Given the description of an element on the screen output the (x, y) to click on. 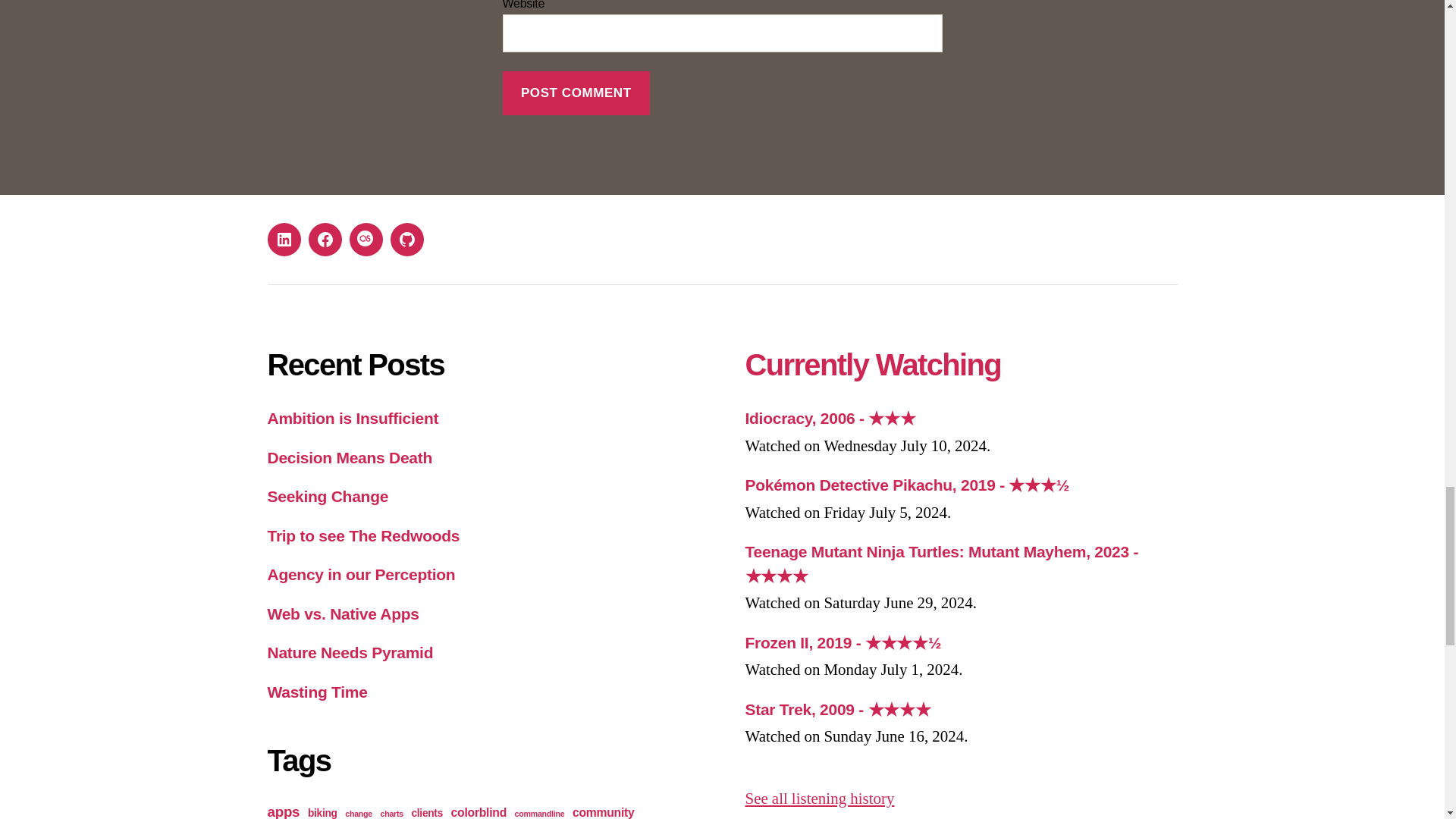
Ambition is Insufficient (352, 417)
Post Comment (575, 93)
Post Comment (575, 93)
Seeking Change (327, 496)
LinkedIn (282, 239)
Agency in our Perception (360, 574)
Trip to see The Redwoods (363, 535)
LastFM (365, 239)
Facebook (323, 239)
Github (406, 239)
Decision Means Death (349, 457)
